Given the description of an element on the screen output the (x, y) to click on. 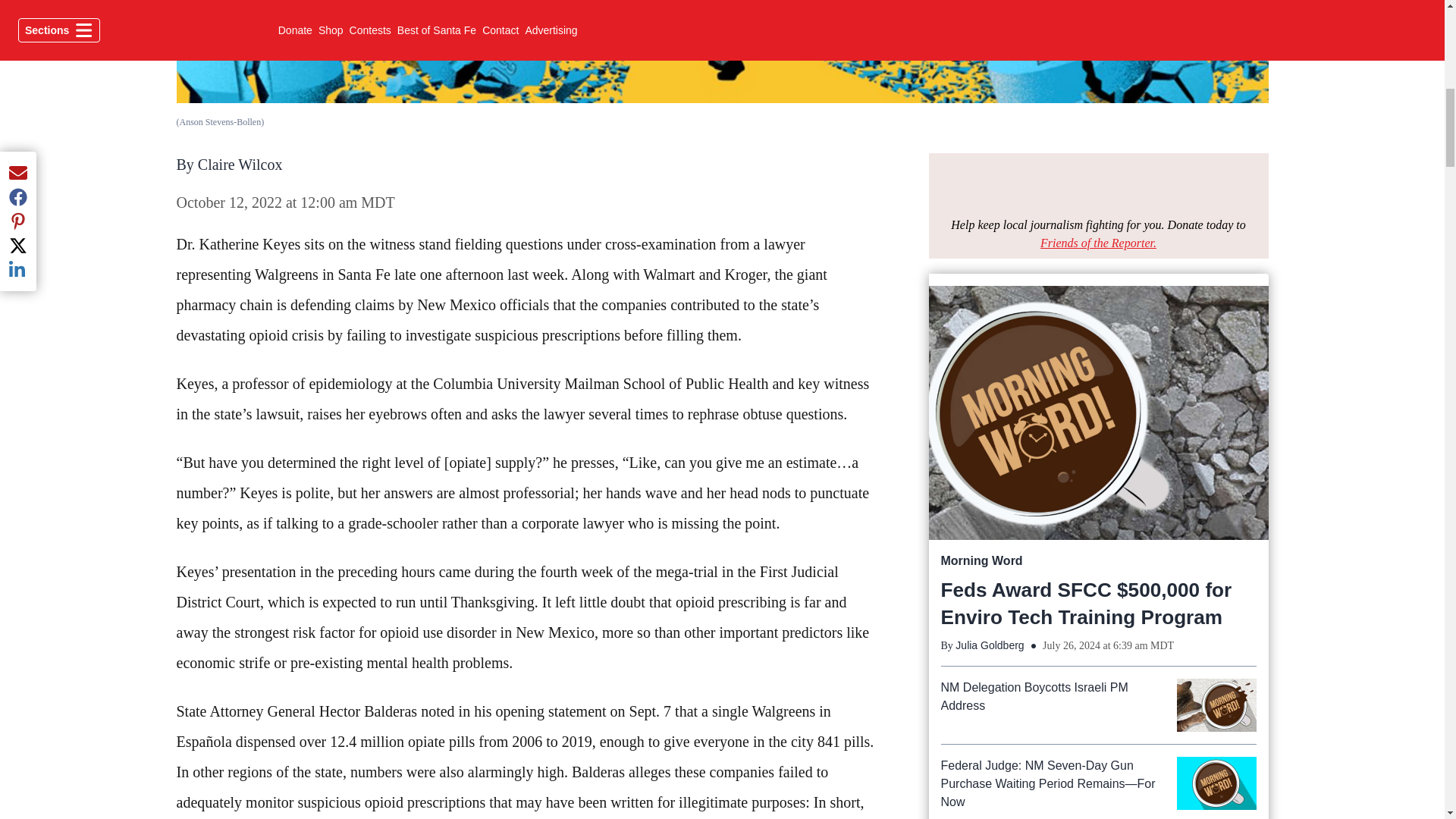
Become a Friend of the Reporter (1098, 242)
Become a Friend of the Reporter (1098, 185)
